Given the description of an element on the screen output the (x, y) to click on. 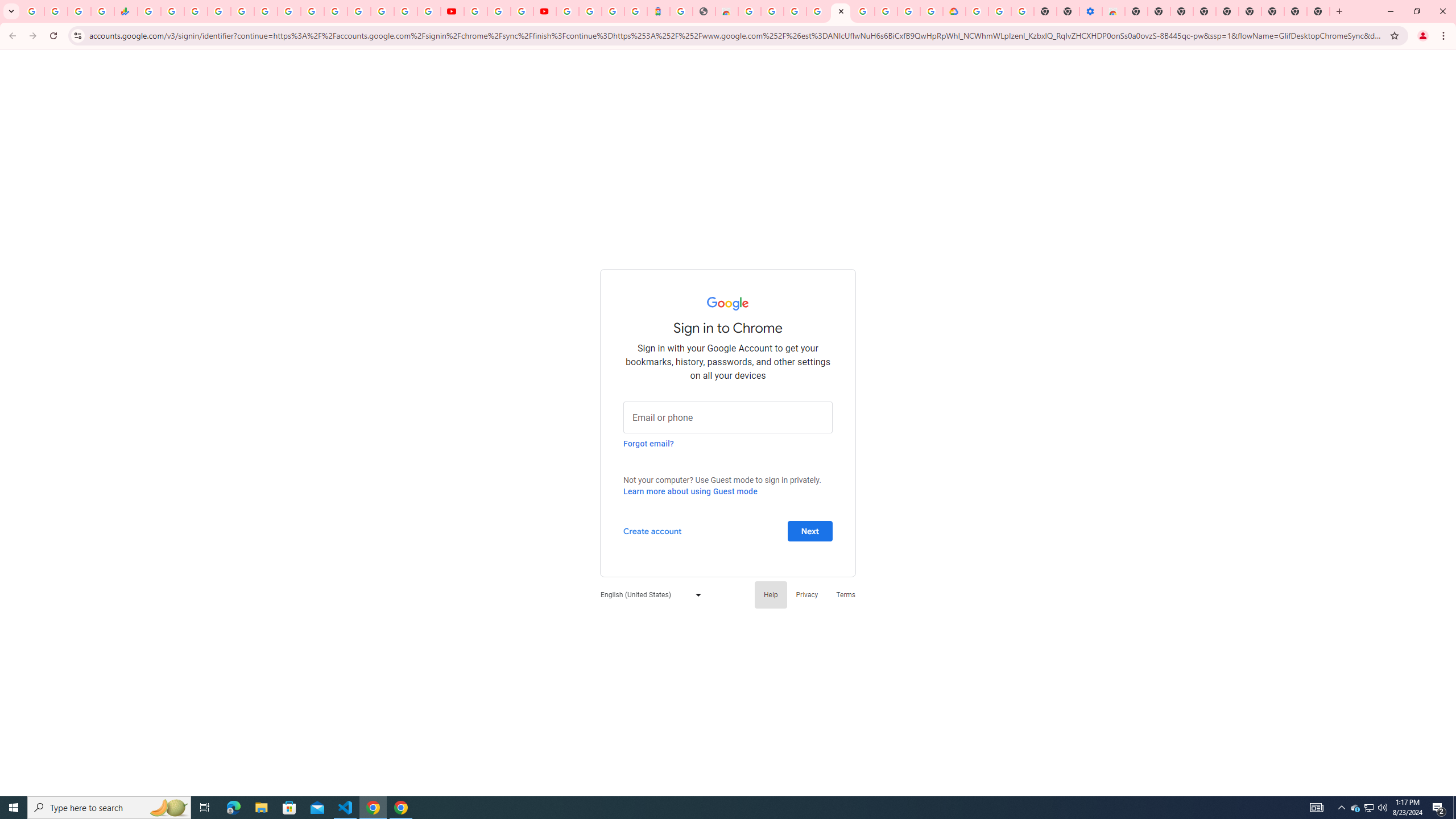
Privacy Checkup (428, 11)
Ad Settings (817, 11)
Content Creator Programs & Opportunities - YouTube Creators (545, 11)
New Tab (1136, 11)
Google Workspace Admin Community (32, 11)
Turn cookies on or off - Computer - Google Account Help (1022, 11)
Create your Google Account (772, 11)
Chrome Web Store - Accessibility extensions (1113, 11)
